Given the description of an element on the screen output the (x, y) to click on. 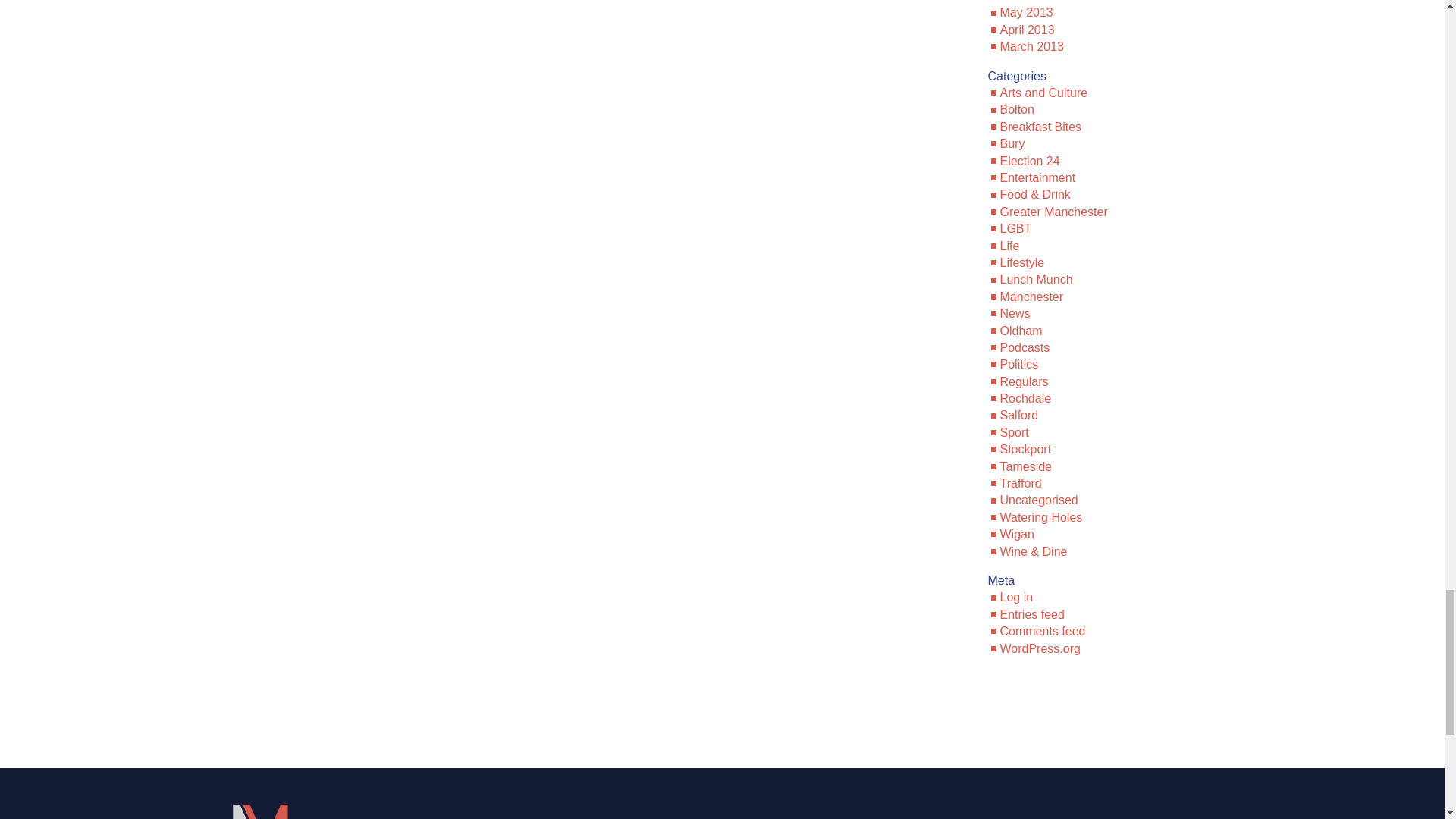
3rd party ad content (721, 715)
